Given the description of an element on the screen output the (x, y) to click on. 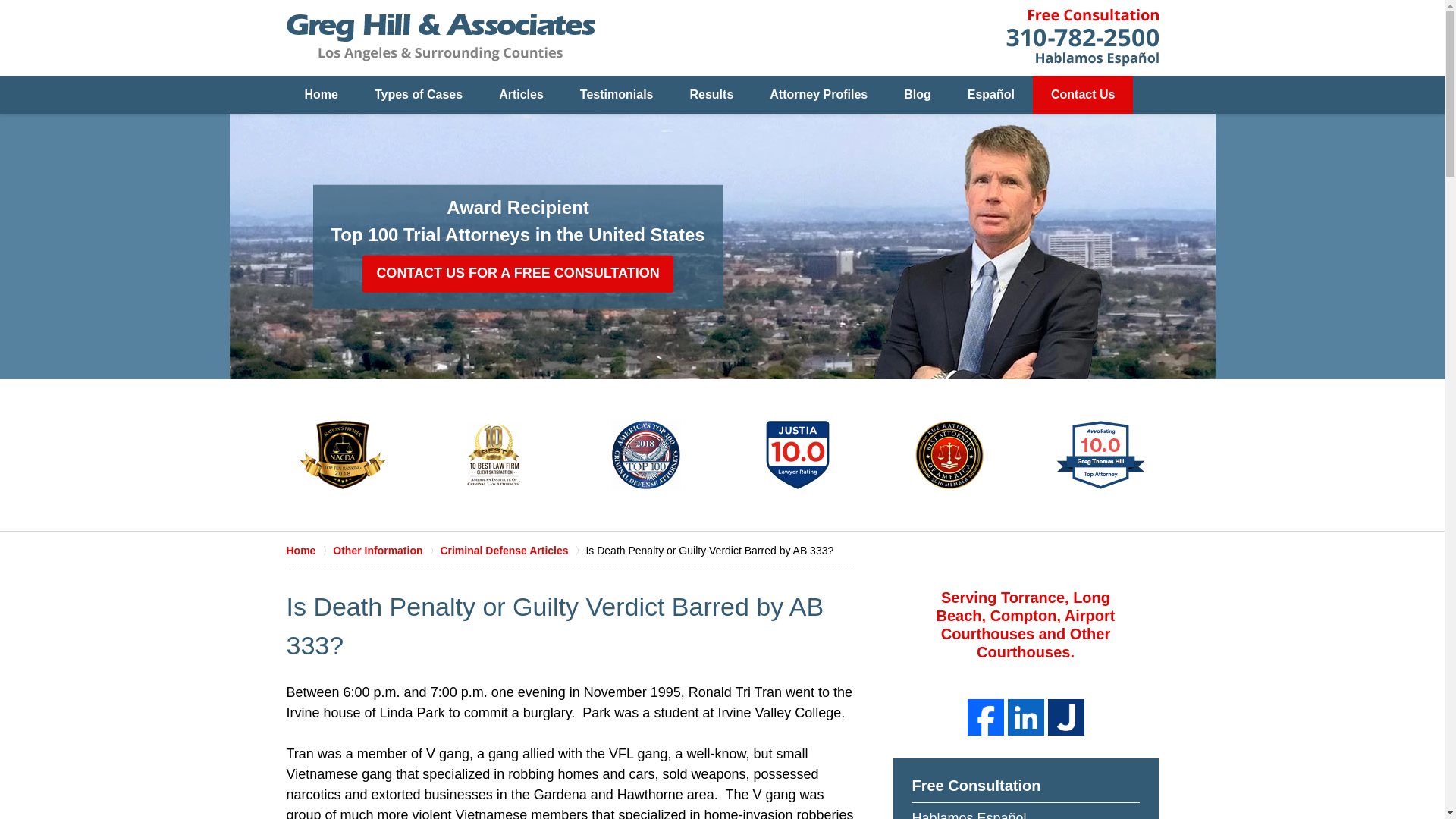
Home (321, 94)
Attorney Profiles (818, 94)
Facebook (986, 717)
Types of Cases (418, 94)
Results (711, 94)
LinkedIn (1025, 717)
Contact Us (1082, 94)
Testimonials (616, 94)
Back to Home (440, 37)
Blog (917, 94)
Articles (521, 94)
Justia (1066, 717)
